Given the description of an element on the screen output the (x, y) to click on. 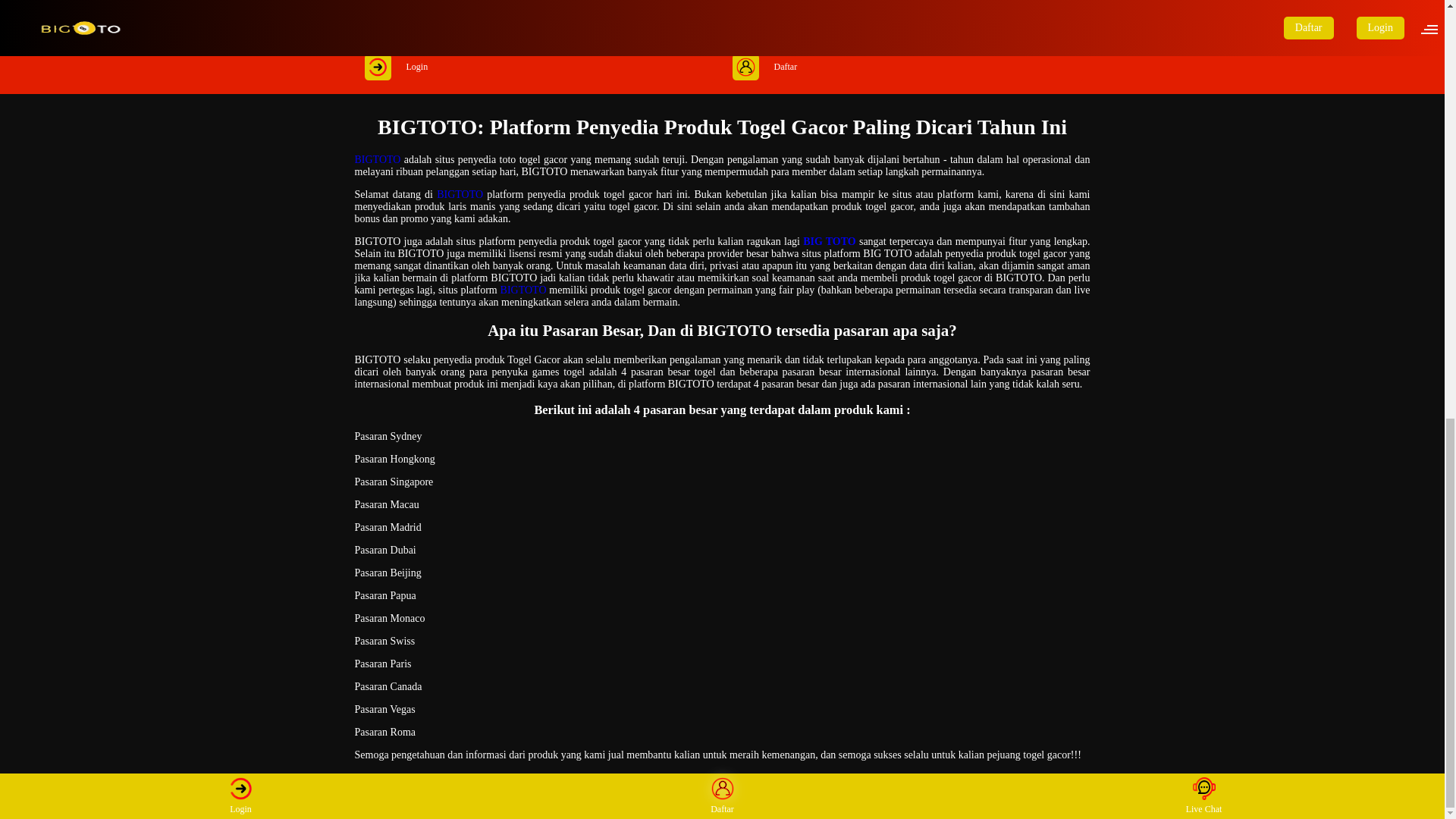
BIGTOTO (459, 194)
BIG TOTO (829, 241)
BIGTOTO (523, 289)
Daftar (905, 66)
Login (538, 66)
BIGTOTO (378, 159)
